Given the description of an element on the screen output the (x, y) to click on. 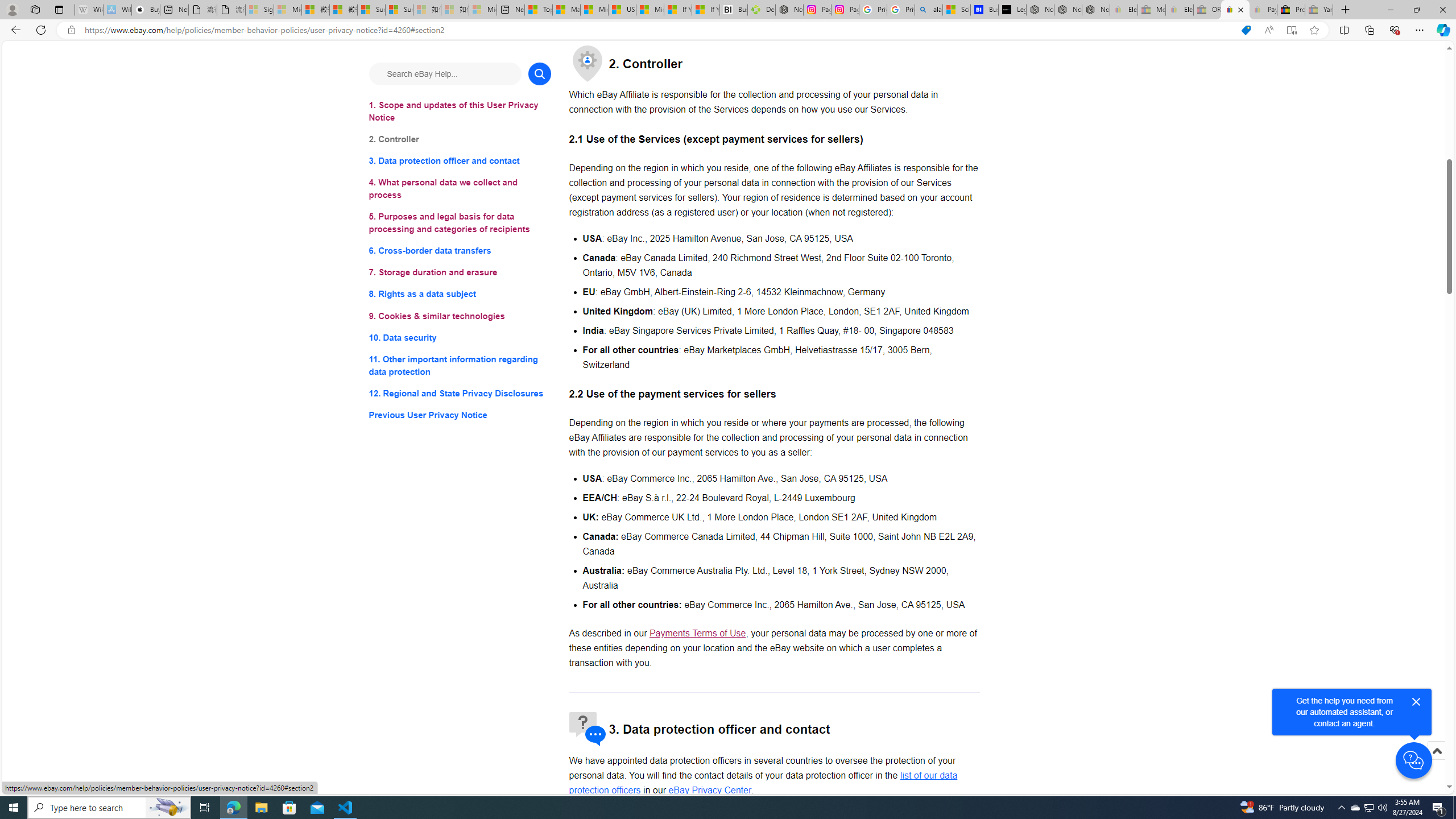
User Privacy Notice | eBay (1235, 9)
12. Regional and State Privacy Disclosures (459, 392)
11. Other important information regarding data protection (459, 365)
Enter Immersive Reader (F9) (1291, 29)
Sign in to your Microsoft account - Sleeping (259, 9)
Marine life - MSN (566, 9)
Previous User Privacy Notice (459, 414)
6. Cross-border data transfers (459, 250)
Previous User Privacy Notice (459, 414)
